Given the description of an element on the screen output the (x, y) to click on. 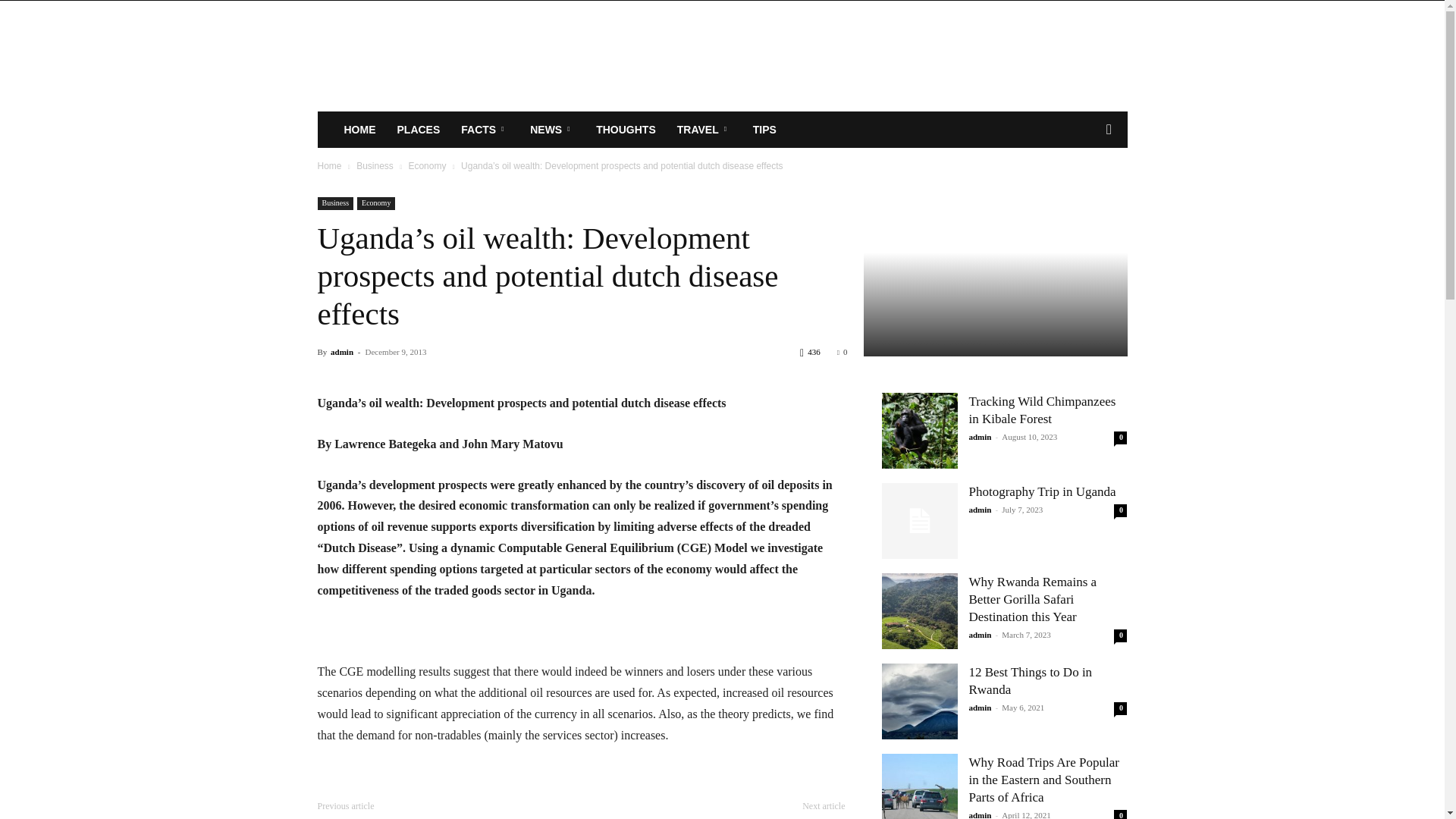
NEWS (552, 129)
Tracking Wild Chimpanzees in Kibale Forest (918, 430)
Economy (375, 203)
Search (1085, 190)
Home (328, 165)
bottomFacebookLike (430, 785)
TRAVEL (704, 129)
Business (335, 203)
Business (374, 165)
TIPS (764, 129)
